Given the description of an element on the screen output the (x, y) to click on. 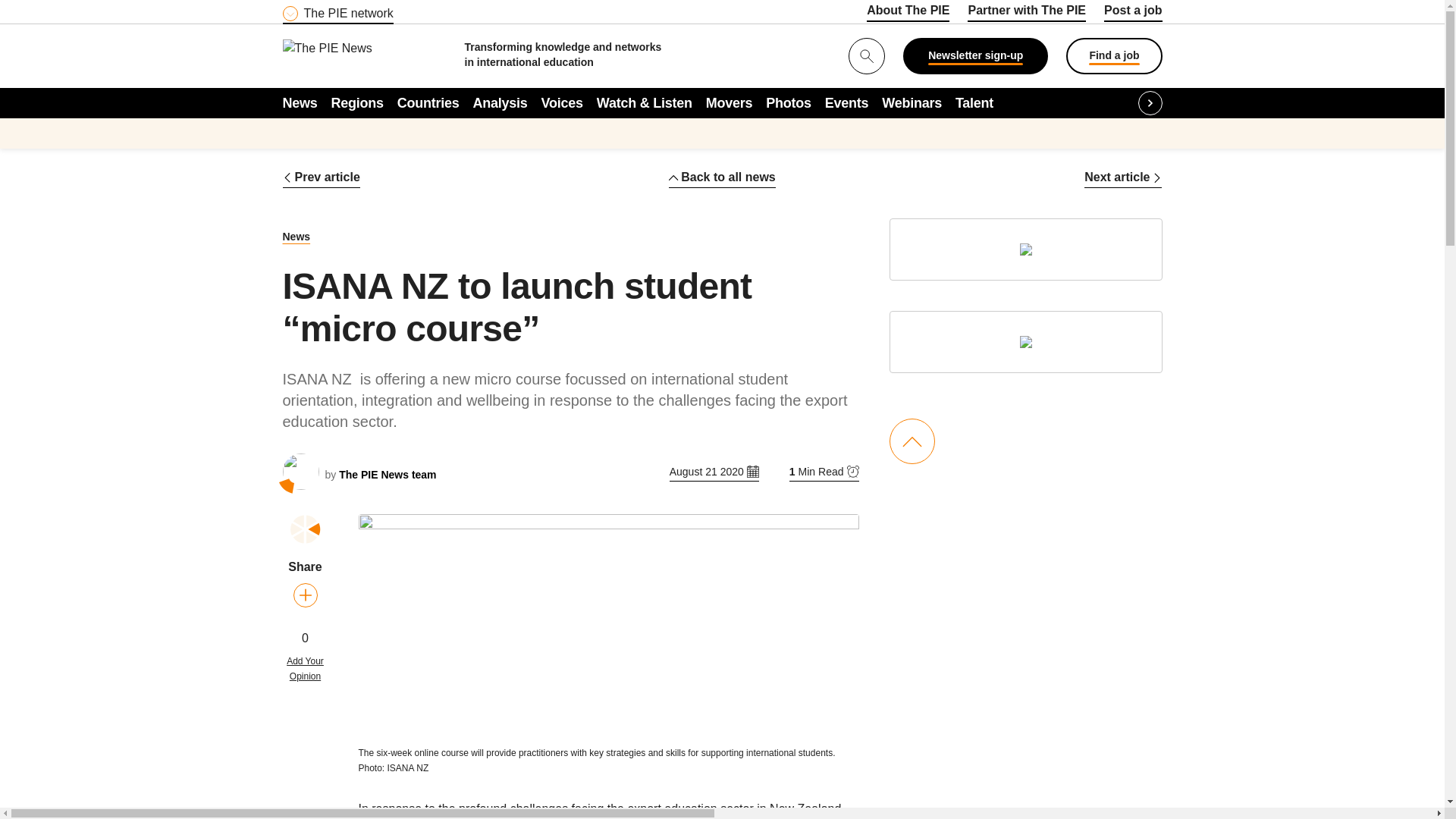
News (299, 102)
Content (373, 9)
Post a job (1132, 13)
Countries (428, 102)
Partner with The PIE (1027, 13)
Regions (357, 102)
Newsletter sign-up (975, 55)
Find a job (1113, 55)
About The PIE (907, 13)
